Given the description of an element on the screen output the (x, y) to click on. 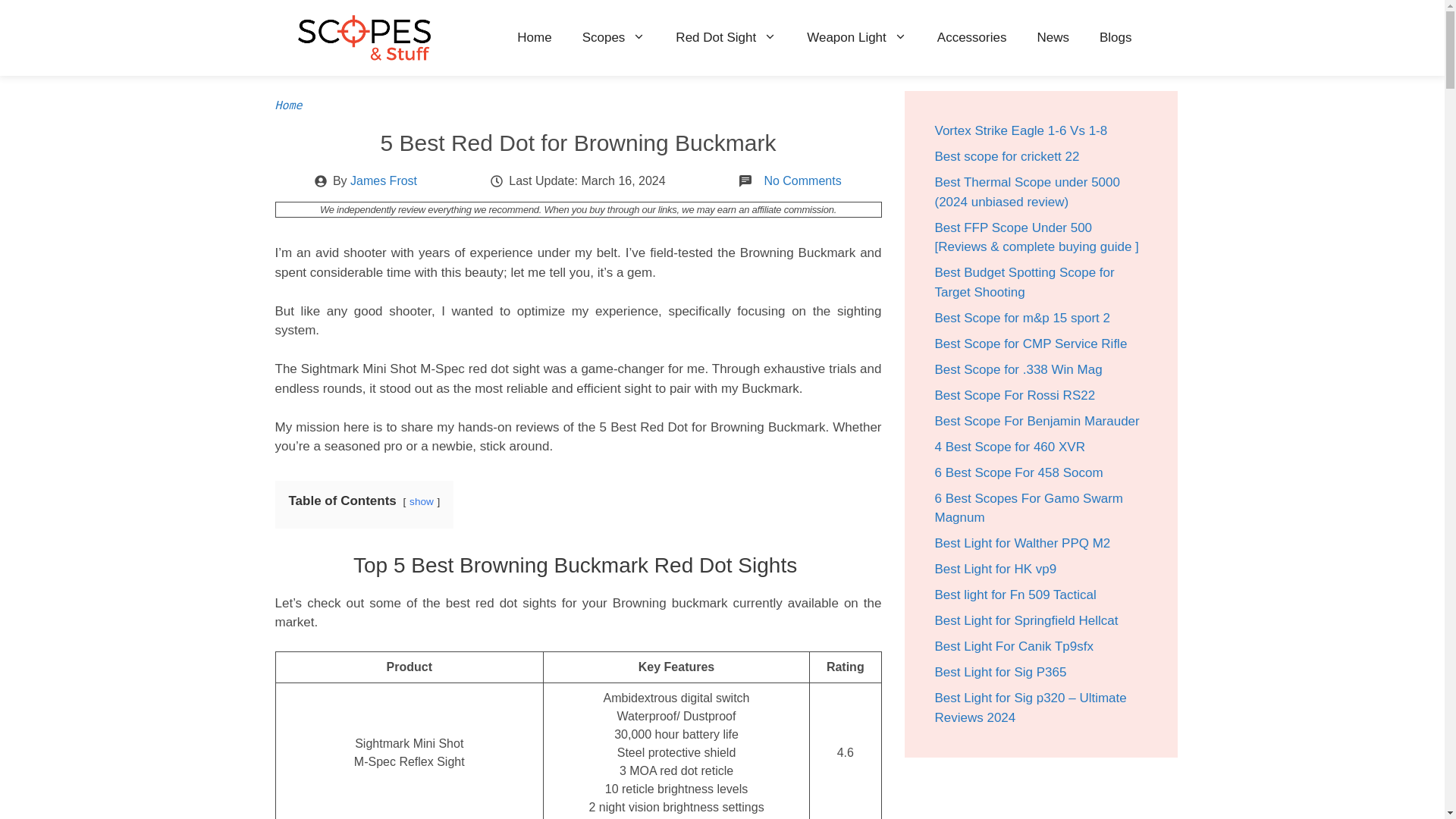
Weapon Light (856, 37)
Scopes (614, 37)
Home (534, 37)
Red Dot Sight (726, 37)
Home (288, 105)
Accessories (971, 37)
James Frost (383, 180)
News (1053, 37)
Blogs (1115, 37)
show (421, 501)
No Comments (801, 180)
